Given the description of an element on the screen output the (x, y) to click on. 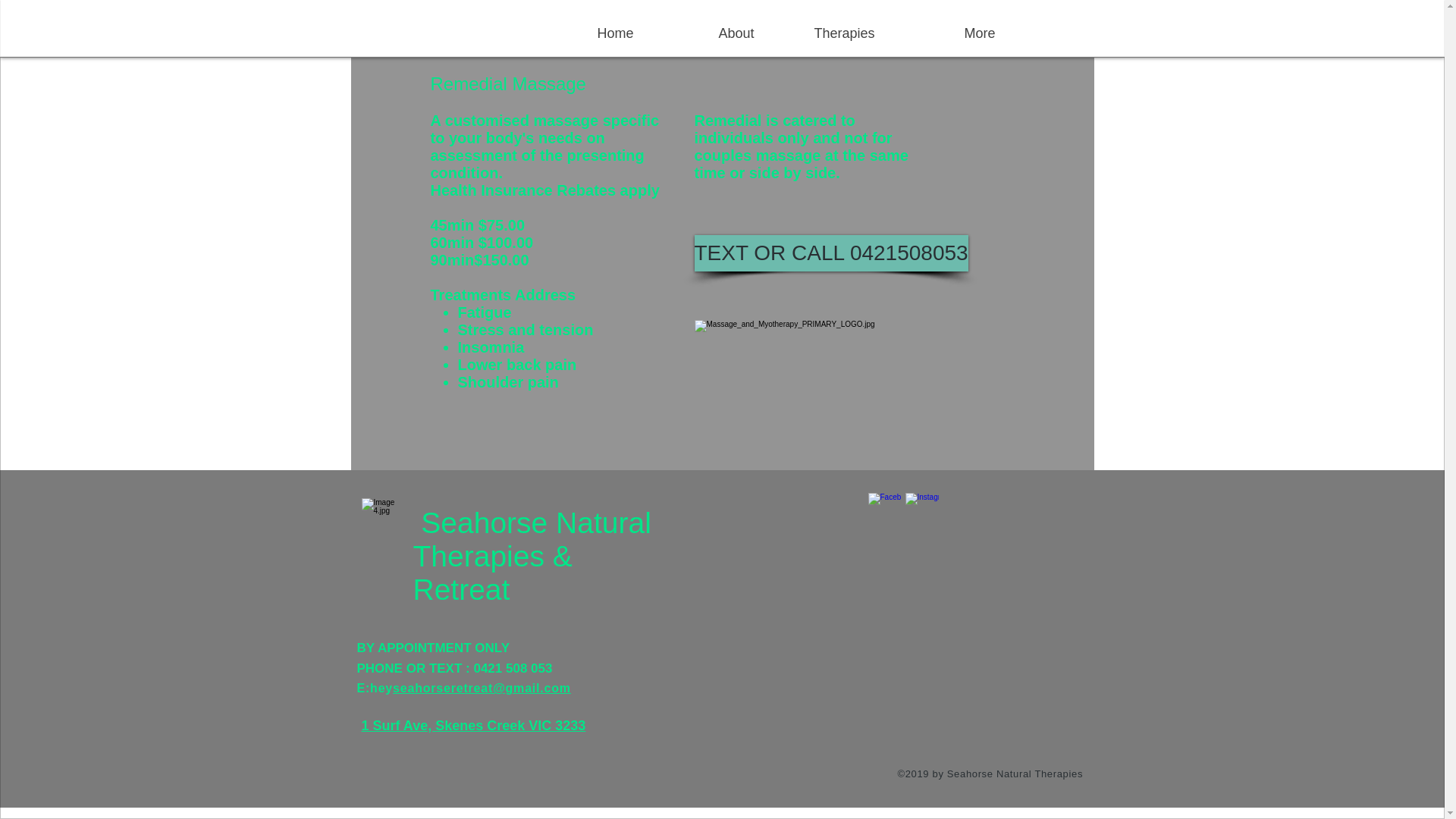
Home (584, 33)
Therapies (825, 33)
1 Surf Ave, Skenes Creek VIC 3233 (473, 725)
About (705, 33)
Facebook Like (1034, 512)
TEXT OR CALL 0421508053 (831, 253)
